Given the description of an element on the screen output the (x, y) to click on. 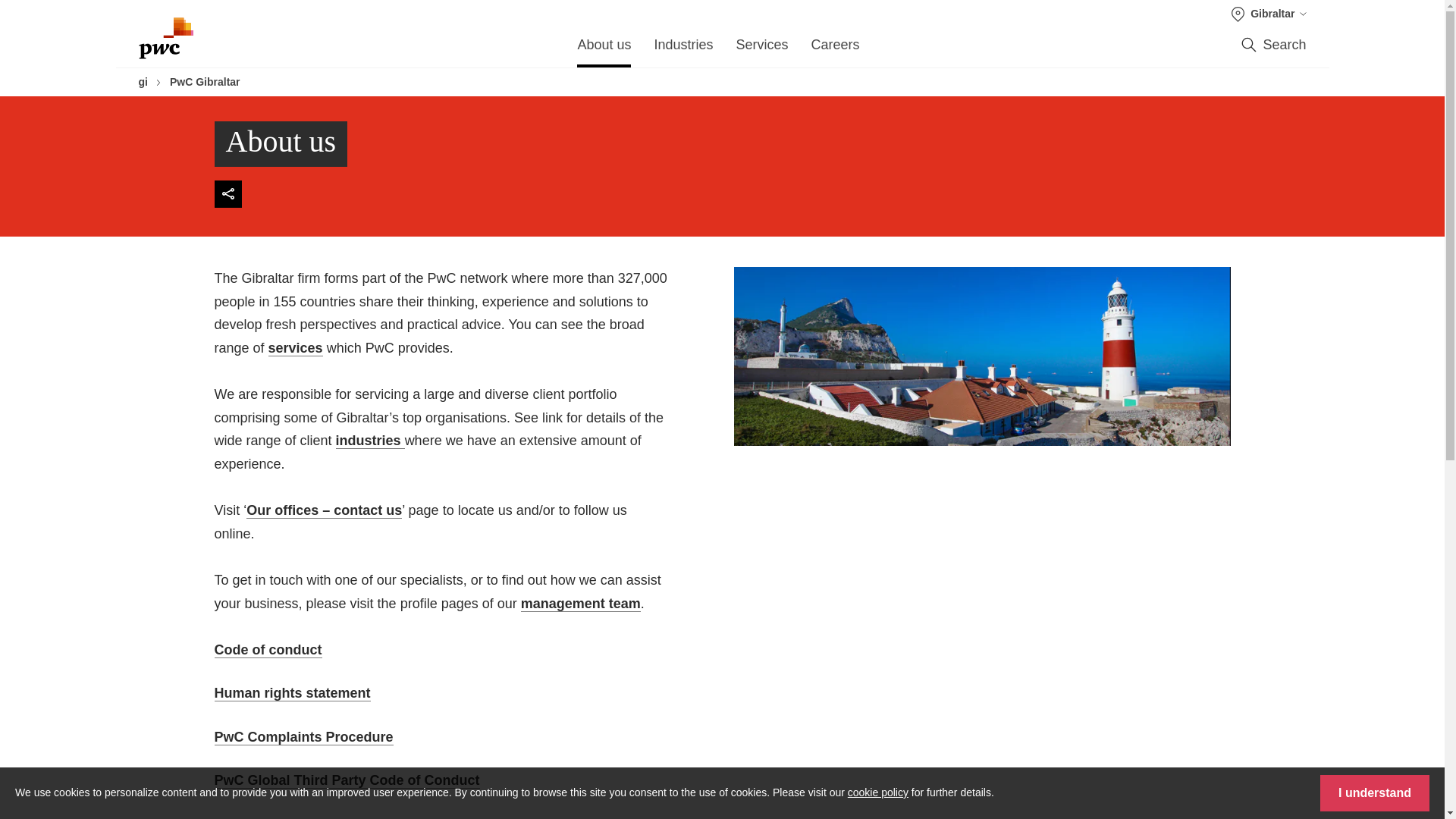
Gibraltar (1268, 13)
Services (761, 49)
Industries (683, 49)
I understand (1374, 792)
cookie policy (877, 792)
Careers (835, 49)
About us (603, 49)
